Given the description of an element on the screen output the (x, y) to click on. 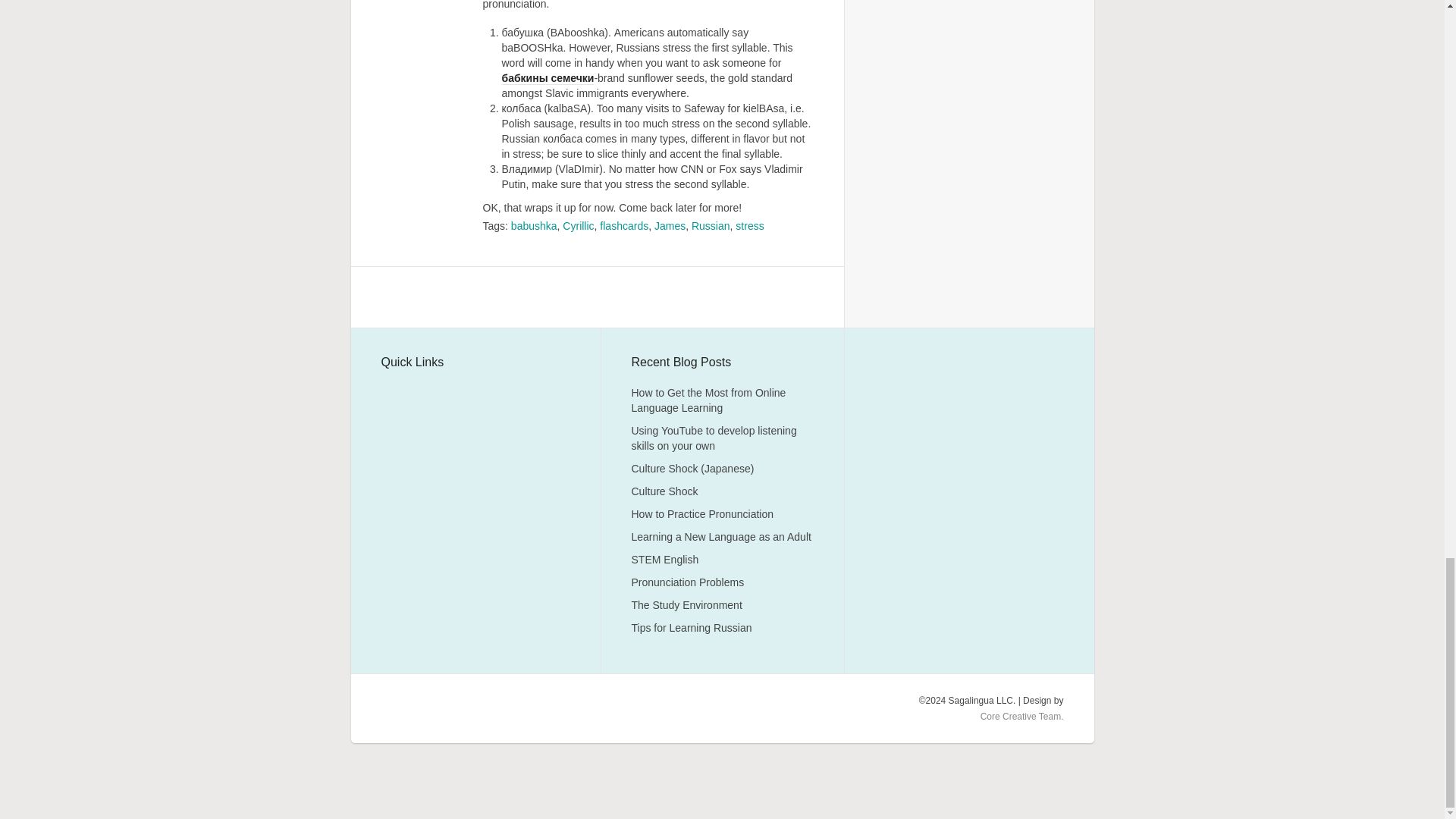
Using YouTube to develop listening skills on your own (713, 438)
STEM English (664, 559)
babushka (534, 225)
The Study Environment (685, 604)
How to Get the Most from Online Language Learning (708, 400)
Core Creative Team. (1021, 716)
James (669, 225)
Pronunciation Problems (687, 582)
Cyrillic (578, 225)
Russian (710, 225)
